Given the description of an element on the screen output the (x, y) to click on. 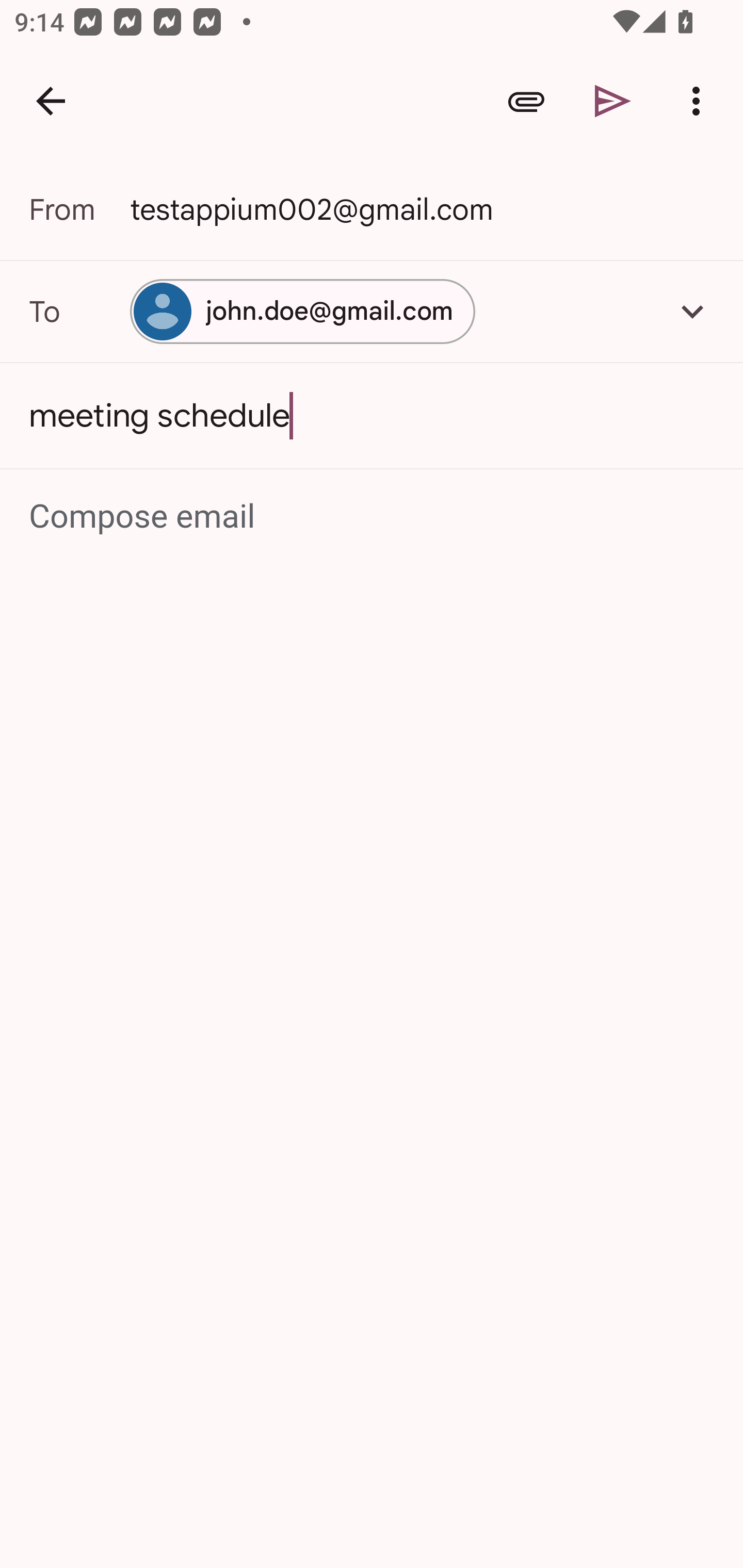
Navigate up (50, 101)
Attach file (525, 101)
Send (612, 101)
More options (699, 101)
From (79, 209)
Add Cc/Bcc (692, 311)
meeting schedule (371, 415)
Compose email (372, 517)
